Given the description of an element on the screen output the (x, y) to click on. 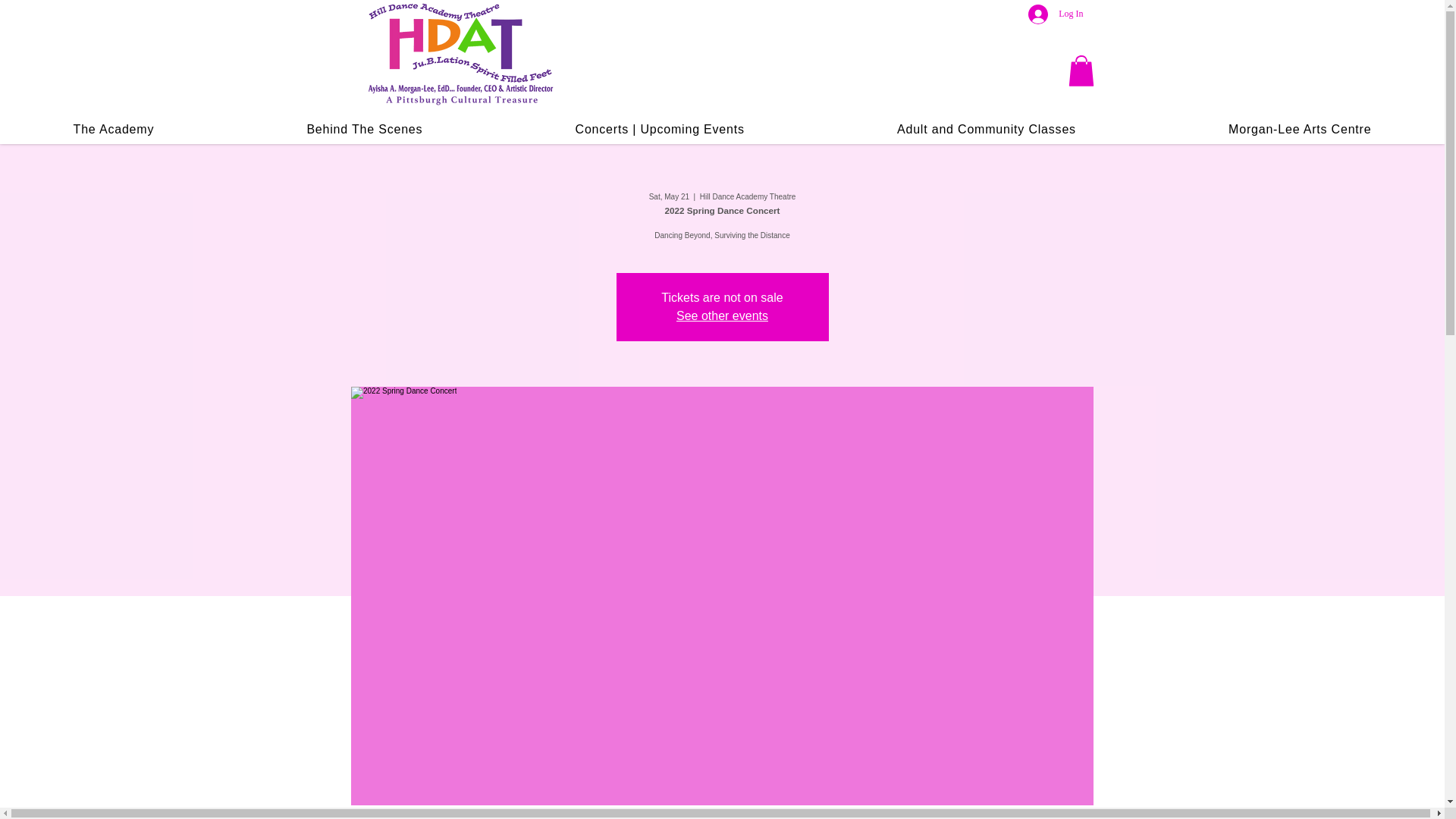
Log In (1055, 14)
See other events (722, 315)
